Given the description of an element on the screen output the (x, y) to click on. 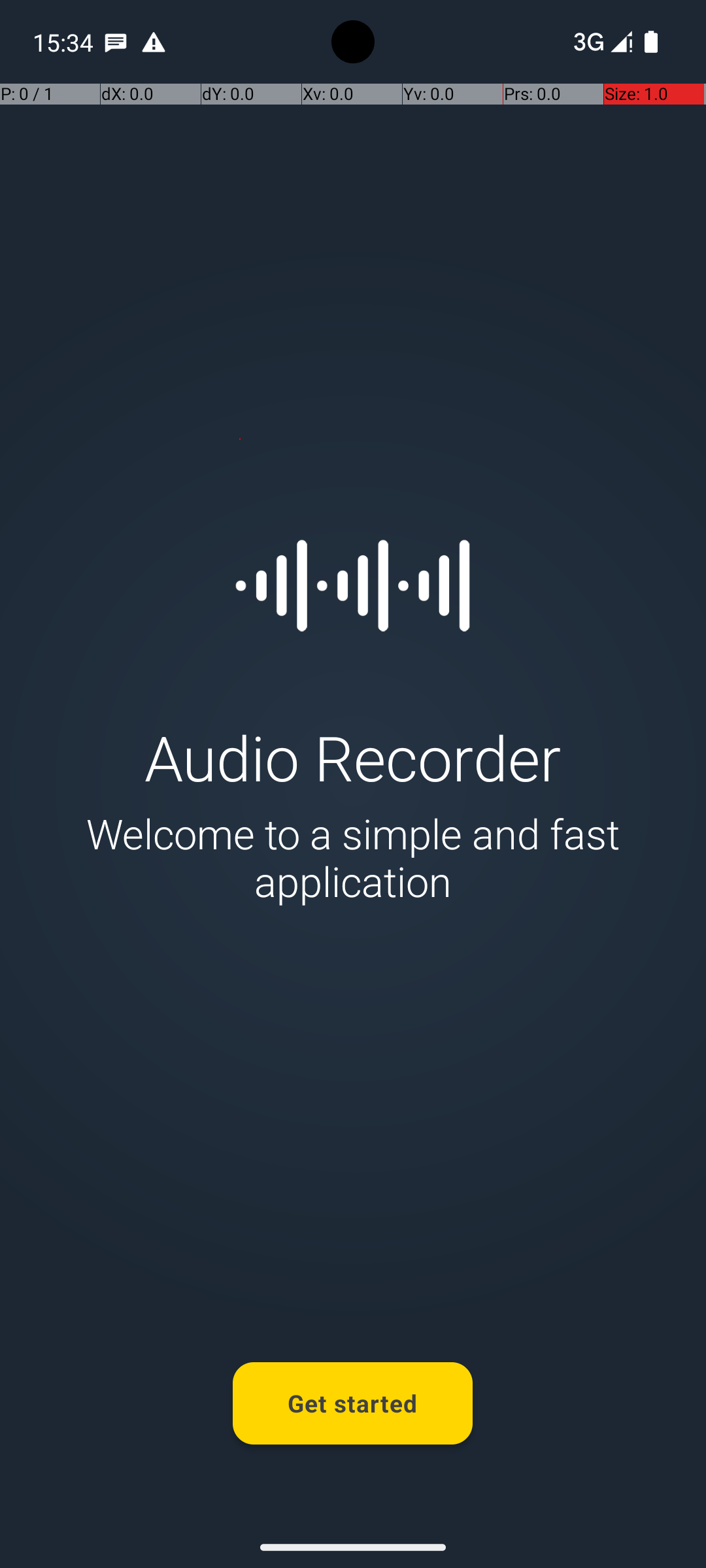
Get started Element type: android.widget.Button (352, 1403)
Audio Recorder Element type: android.widget.TextView (352, 756)
Welcome to a simple and fast application Element type: android.widget.TextView (352, 856)
SMS Messenger notification:  Element type: android.widget.ImageView (115, 41)
Android System notification: Data warning Element type: android.widget.ImageView (153, 41)
Phone signal full. Element type: android.widget.FrameLayout (600, 41)
